Given the description of an element on the screen output the (x, y) to click on. 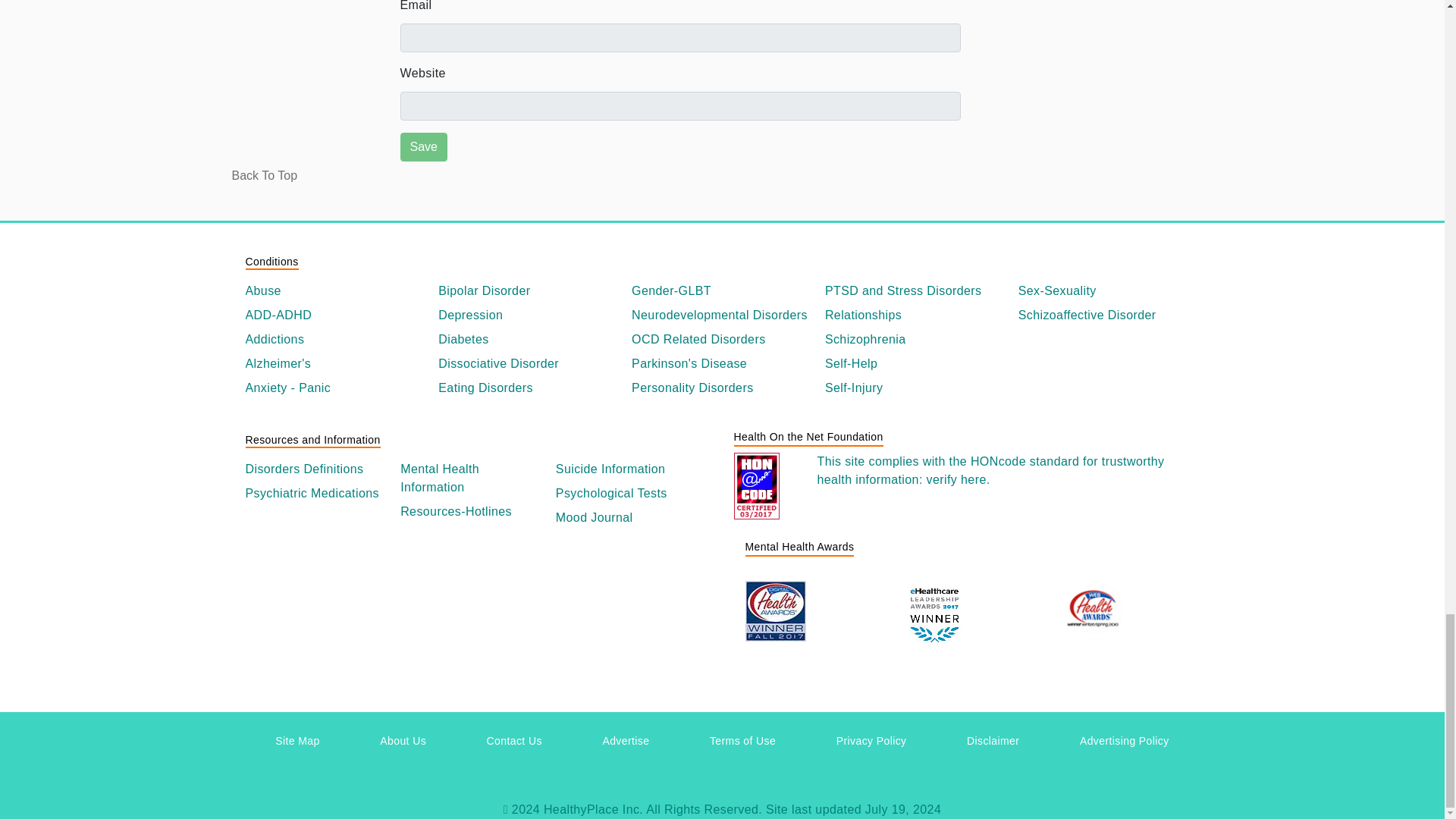
Parkinson's Disease Information Articles (721, 363)
